Given the description of an element on the screen output the (x, y) to click on. 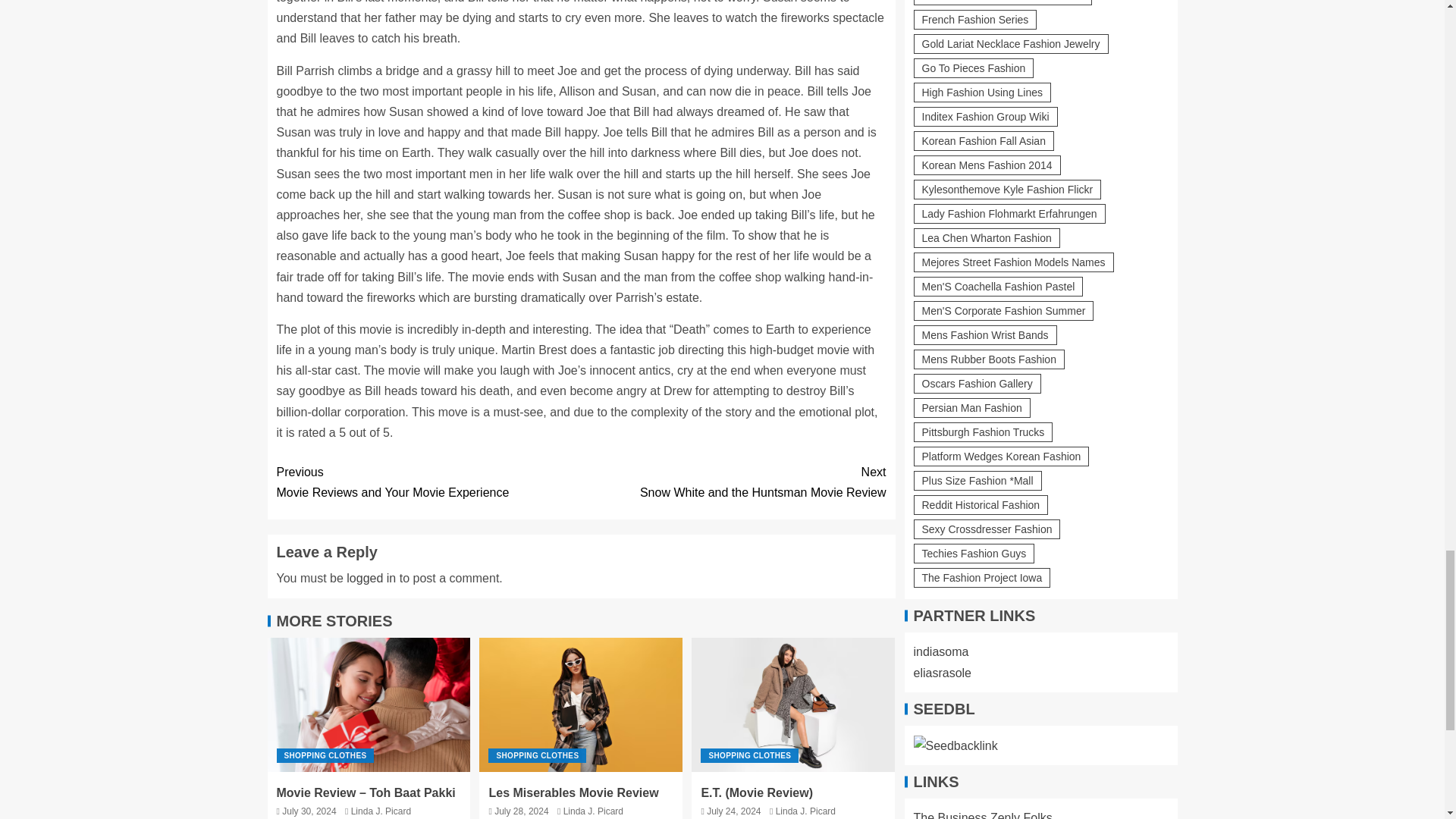
Les Miserables Movie Review (572, 792)
logged in (371, 577)
Linda J. Picard (380, 810)
Linda J. Picard (593, 810)
Linda J. Picard (805, 810)
SHOPPING CLOTHES (536, 755)
Les Miserables Movie Review (580, 705)
SHOPPING CLOTHES (428, 481)
SHOPPING CLOTHES (732, 481)
